Given the description of an element on the screen output the (x, y) to click on. 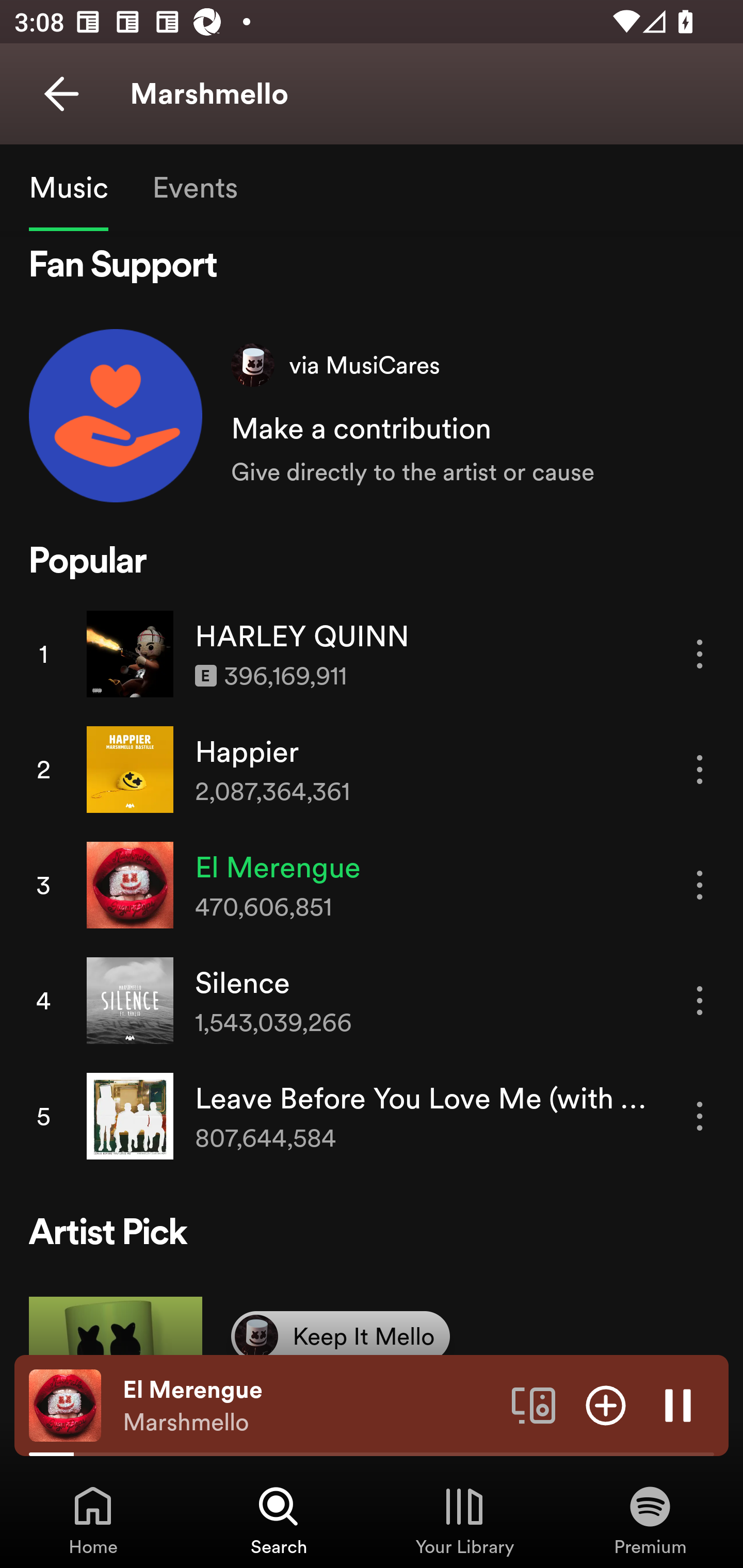
Back (60, 93)
Events (194, 187)
More options for song HARLEY QUINN (699, 653)
More options for song Happier (699, 768)
More options for song El Merengue (699, 885)
More options for song Silence (699, 1001)
El Merengue Marshmello (309, 1405)
The cover art of the currently playing track (64, 1404)
Connect to a device. Opens the devices menu (533, 1404)
Add item (605, 1404)
Pause (677, 1404)
Home, Tab 1 of 4 Home Home (92, 1519)
Search, Tab 2 of 4 Search Search (278, 1519)
Your Library, Tab 3 of 4 Your Library Your Library (464, 1519)
Premium, Tab 4 of 4 Premium Premium (650, 1519)
